Given the description of an element on the screen output the (x, y) to click on. 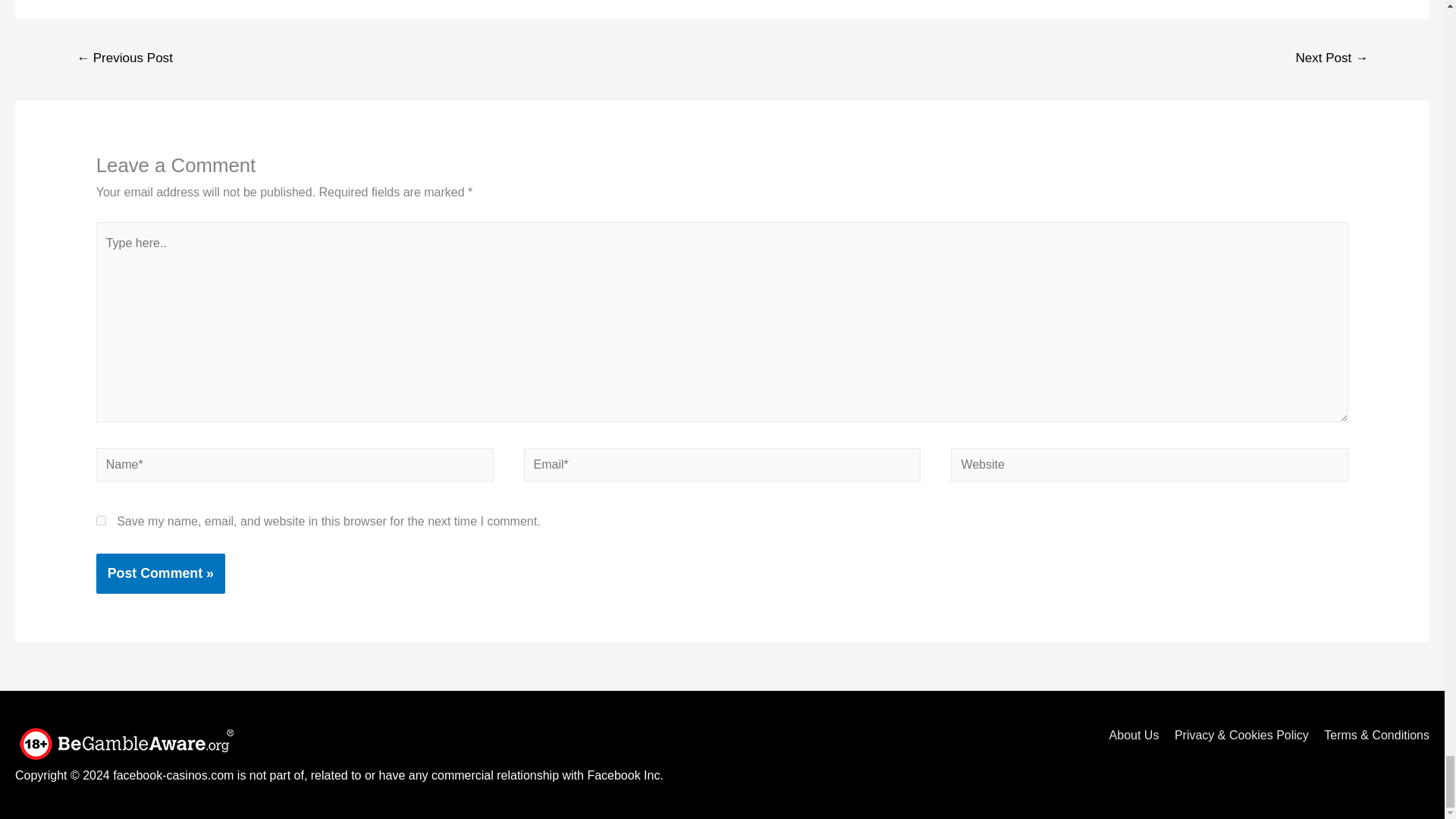
yes (101, 520)
